Given the description of an element on the screen output the (x, y) to click on. 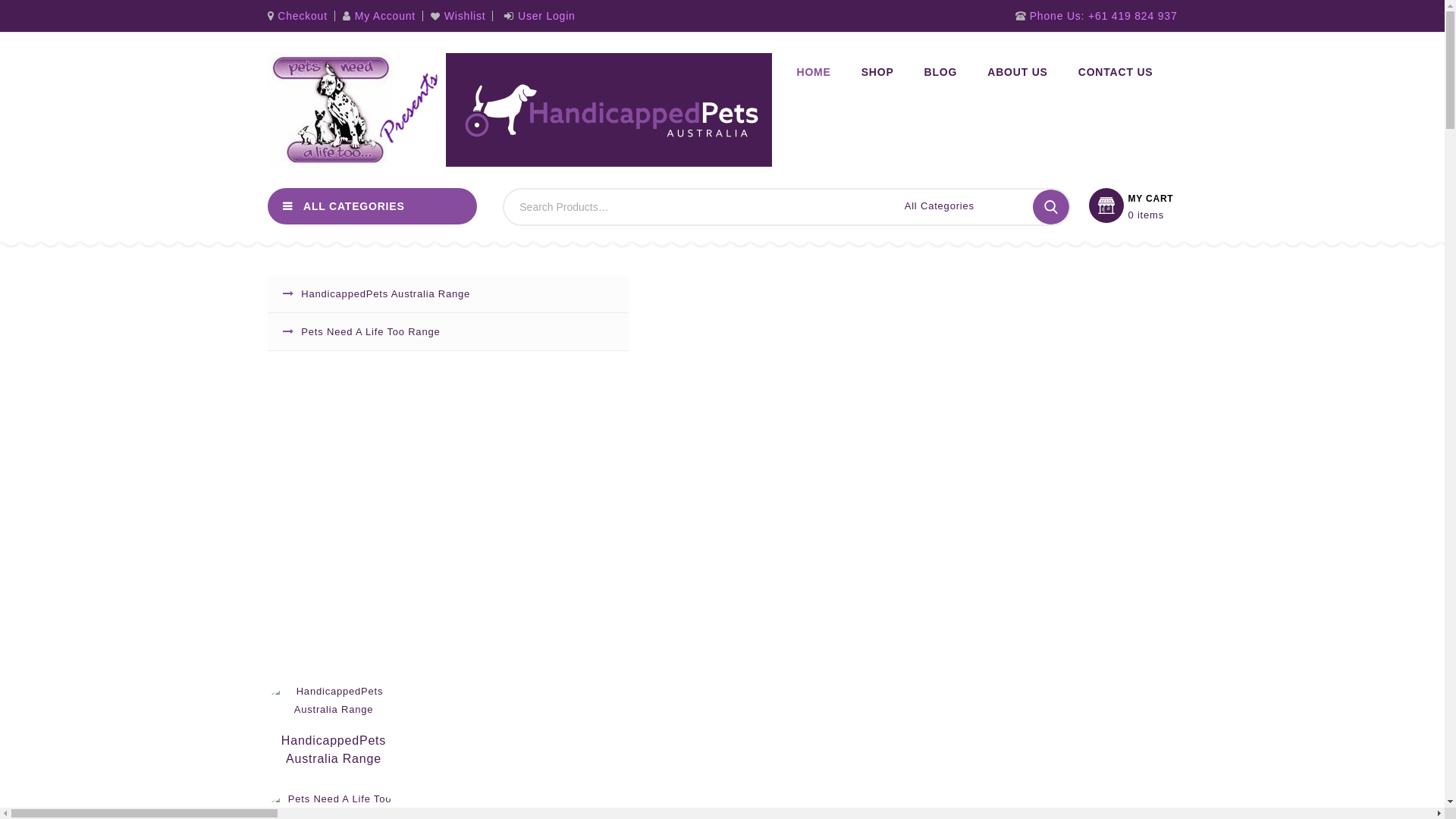
CONTACT US Element type: text (1115, 71)
SHOP Element type: text (877, 71)
BLOG Element type: text (940, 71)
Handicapped Pets Australia Element type: hover (518, 110)
HandicappedPets Australia Range Element type: text (333, 744)
ABOUT US Element type: text (1017, 71)
0 items Element type: text (1150, 215)
HandicappedPets Australia Range Element type: hover (332, 700)
Pets Need A Life Too Range Element type: text (446, 332)
Search Element type: text (1050, 206)
User Login Element type: text (539, 15)
HandicappedPets Australia Range Element type: text (446, 294)
Search for: Element type: hover (676, 206)
Checkout Element type: text (300, 15)
Wishlist Element type: text (457, 15)
My Account Element type: text (379, 15)
HOME Element type: text (813, 71)
